Given the description of an element on the screen output the (x, y) to click on. 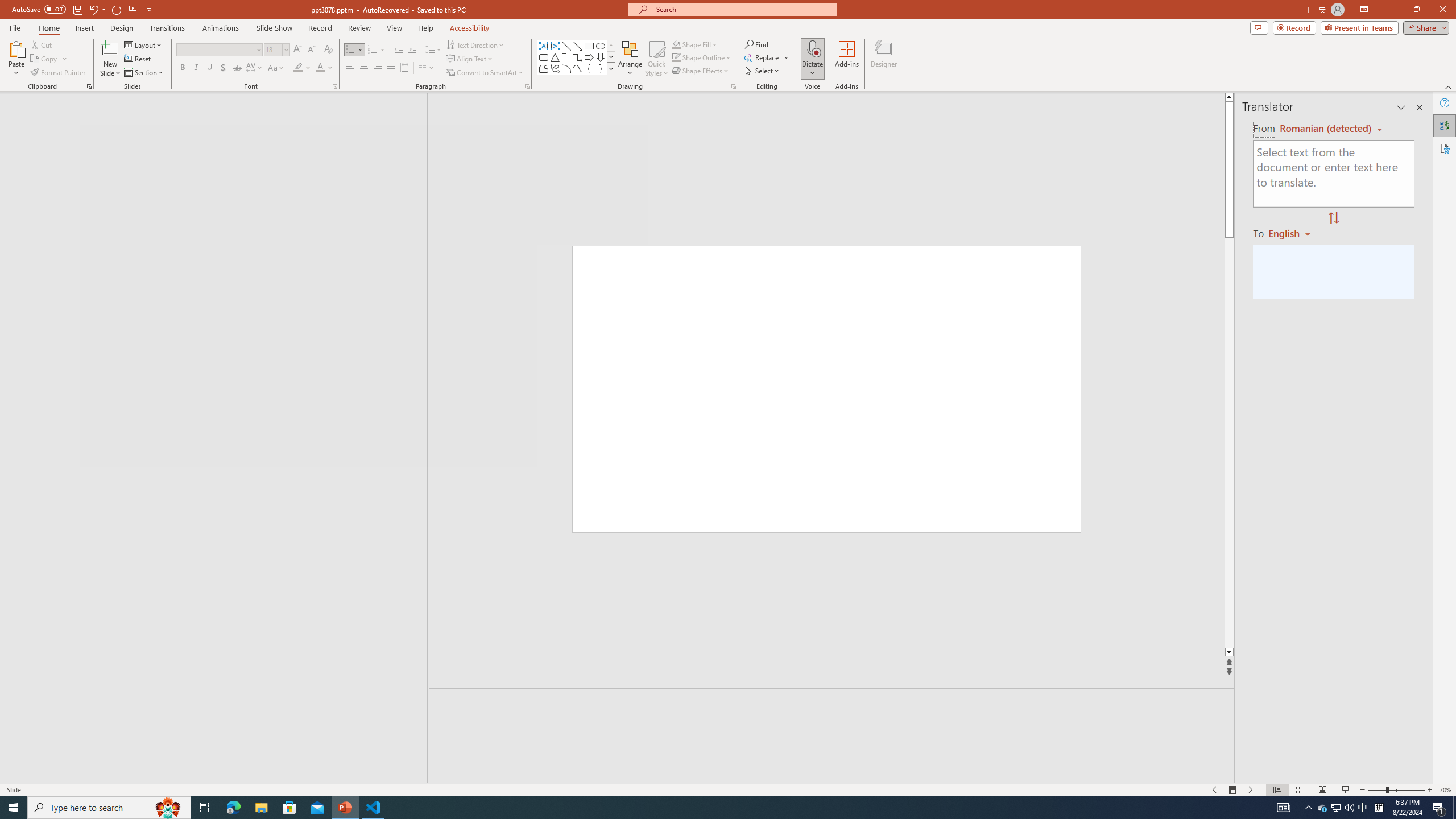
Romanian (1293, 232)
